Given the description of an element on the screen output the (x, y) to click on. 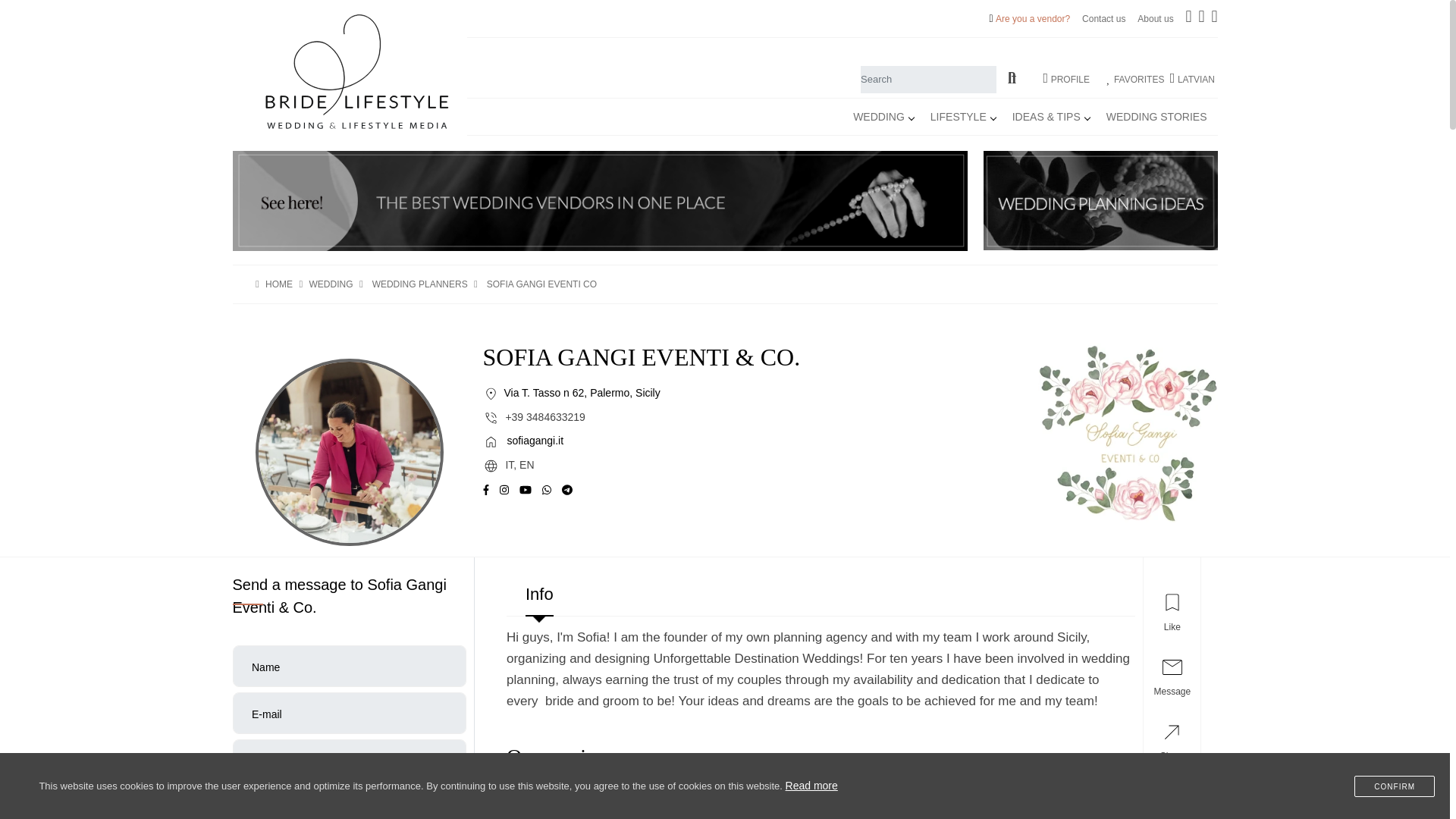
Info (820, 600)
